Given the description of an element on the screen output the (x, y) to click on. 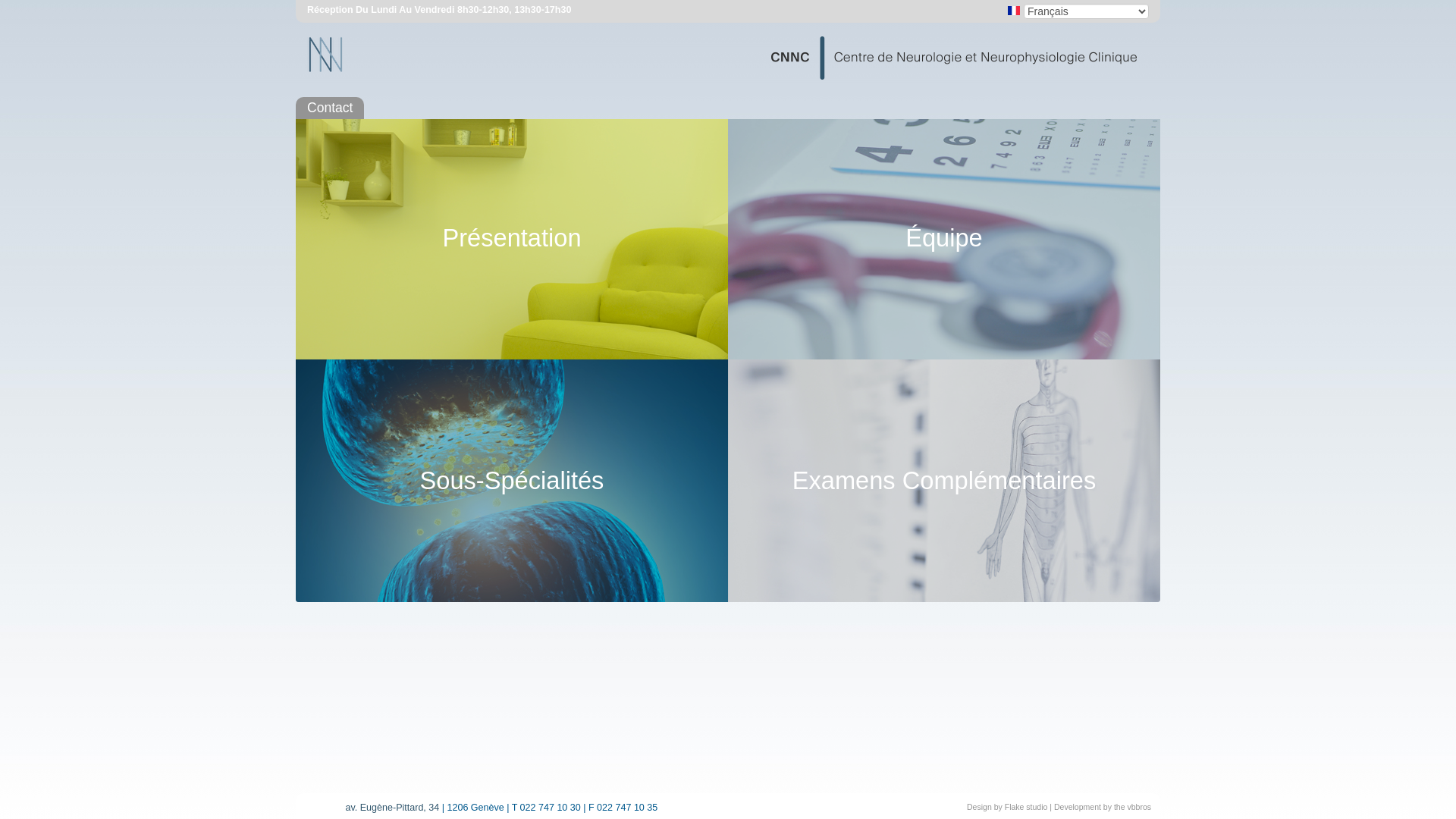
Flake studio Element type: text (1026, 806)
the vbbros Element type: text (1132, 806)
Contact Element type: text (329, 108)
Home Element type: hover (727, 60)
